Given the description of an element on the screen output the (x, y) to click on. 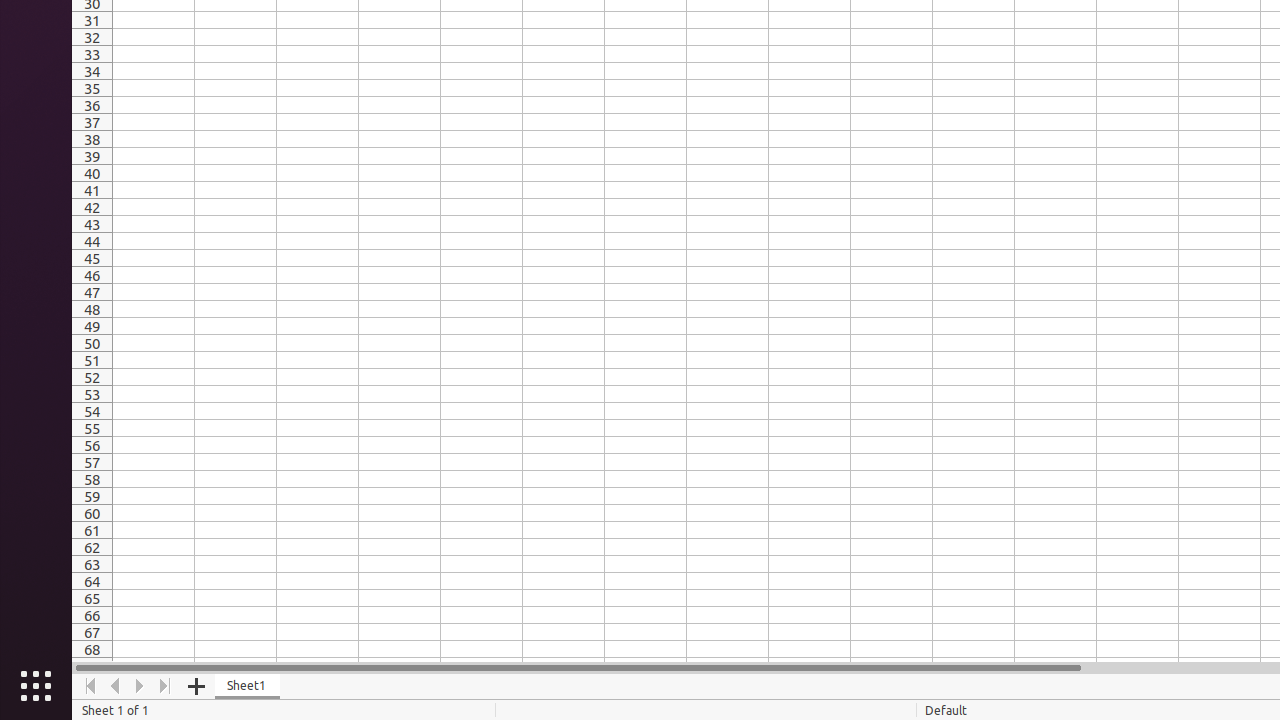
Move To End Element type: push-button (165, 686)
